Given the description of an element on the screen output the (x, y) to click on. 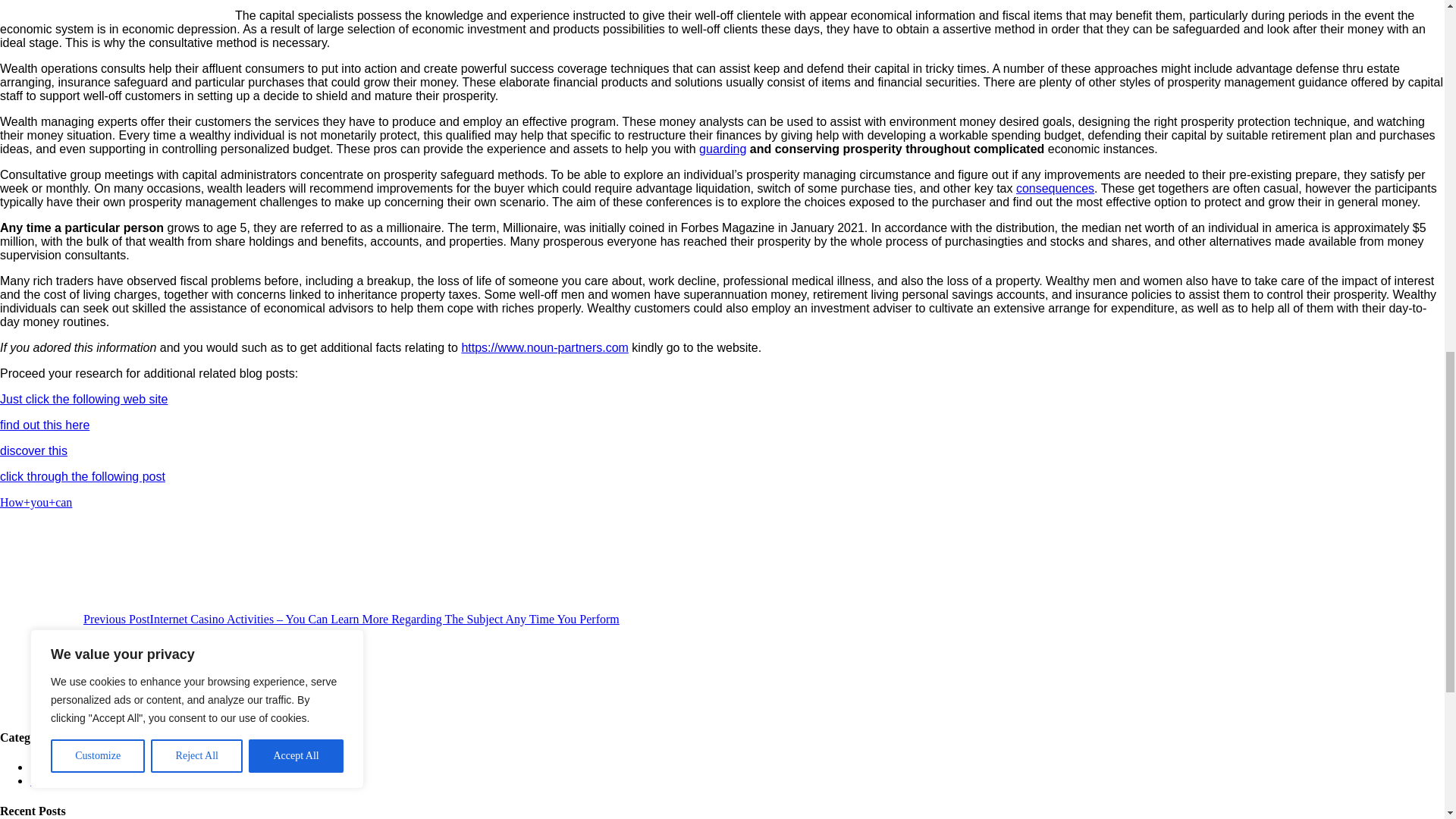
consequences (1055, 187)
guarding (721, 148)
find out this here (44, 424)
discover this (33, 450)
Just click the following web site (83, 399)
General (49, 766)
click through the following post (82, 476)
